Given the description of an element on the screen output the (x, y) to click on. 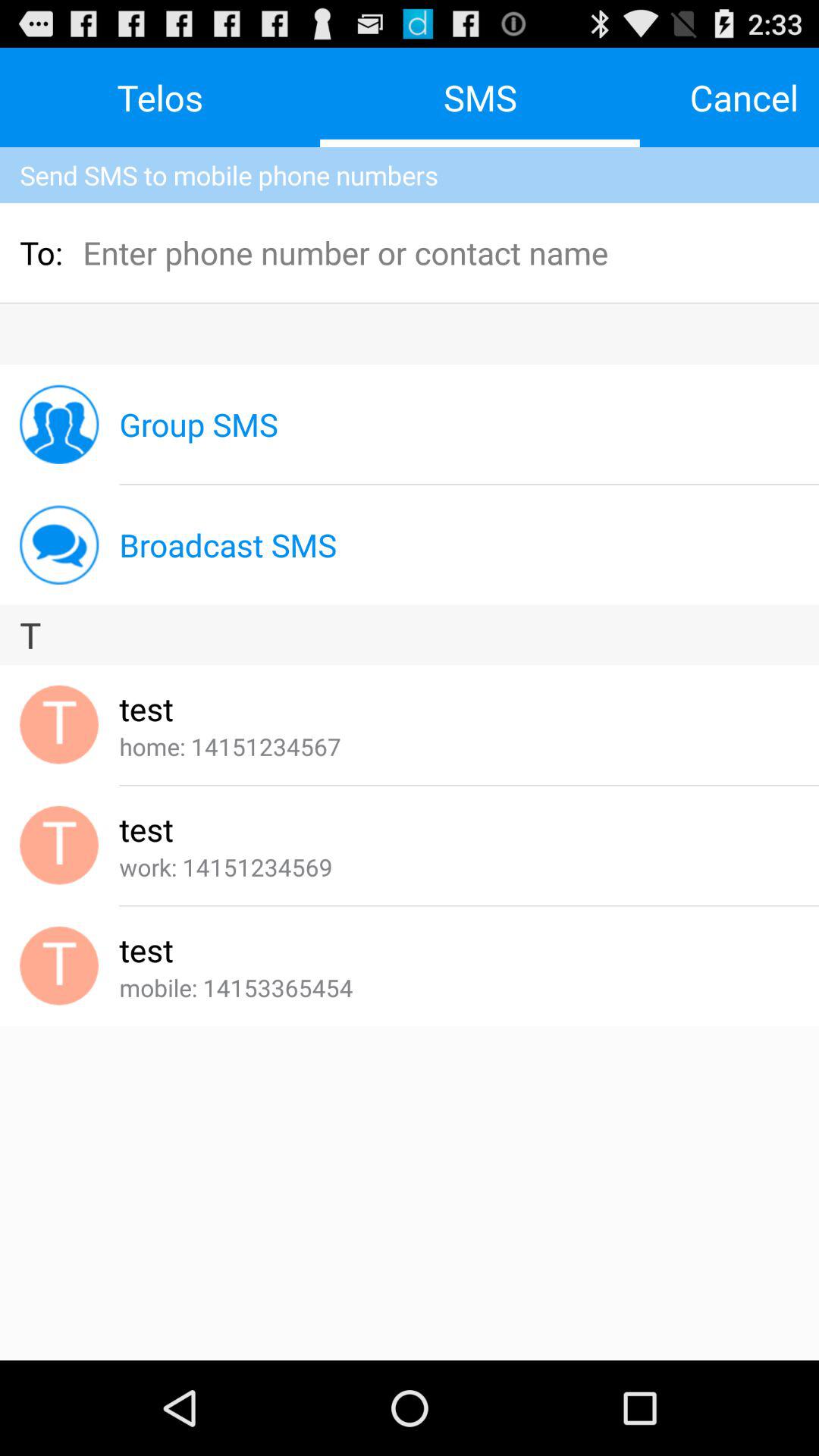
jump until group sms icon (198, 423)
